Given the description of an element on the screen output the (x, y) to click on. 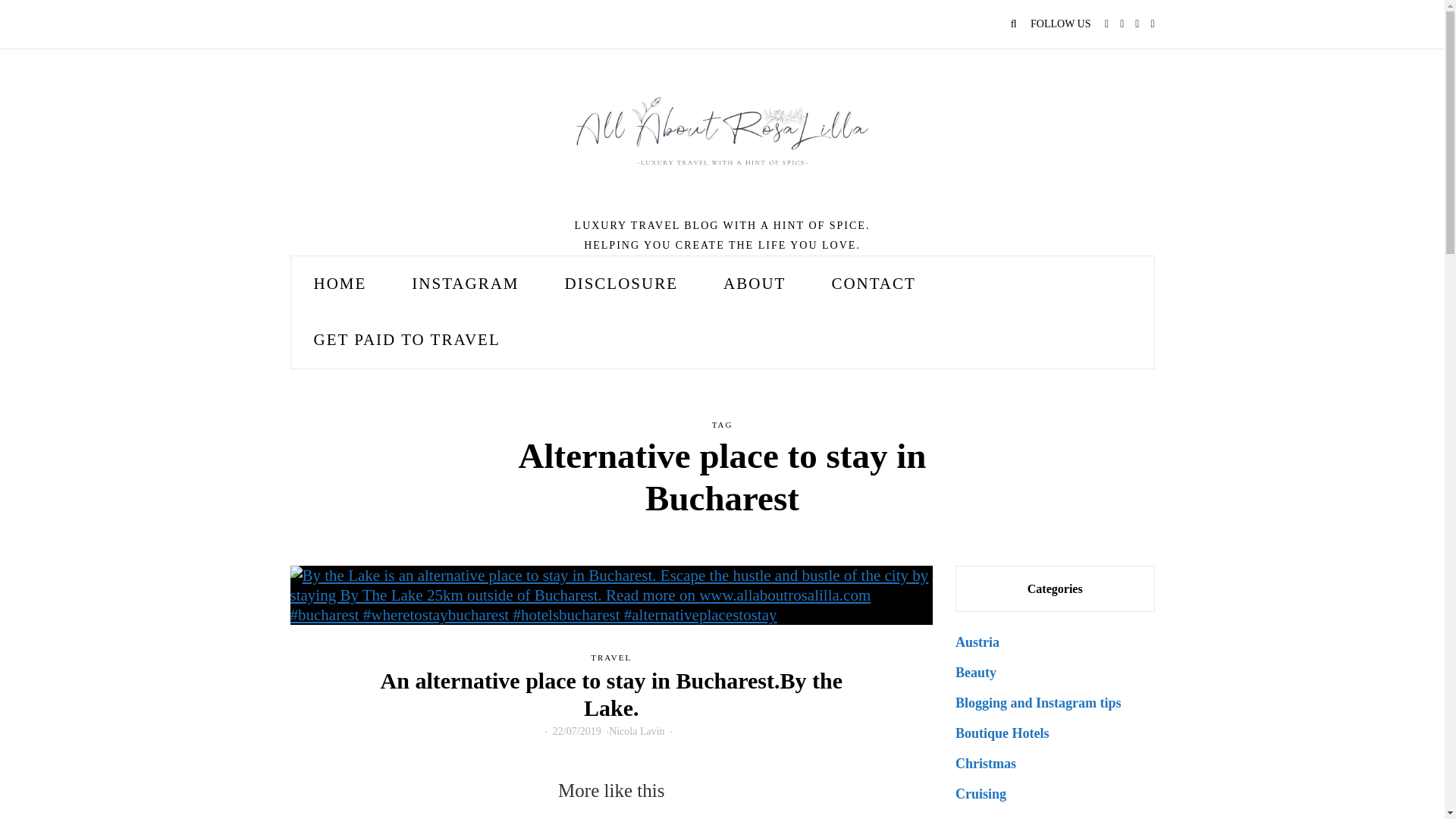
Europe (976, 817)
Beauty (975, 672)
An alternative place to stay in Bucharest.By the Lake. (611, 694)
Cruising (980, 793)
Blogging and Instagram tips (1038, 702)
Austria (976, 642)
Christmas (985, 763)
ABOUT (754, 284)
Nicola Lavin (635, 731)
Boutique Hotels (1002, 733)
Posts by Nicola Lavin (635, 731)
INSTAGRAM (464, 284)
HOME (340, 284)
GET PAID TO TRAVEL (406, 339)
TRAVEL (611, 657)
